Given the description of an element on the screen output the (x, y) to click on. 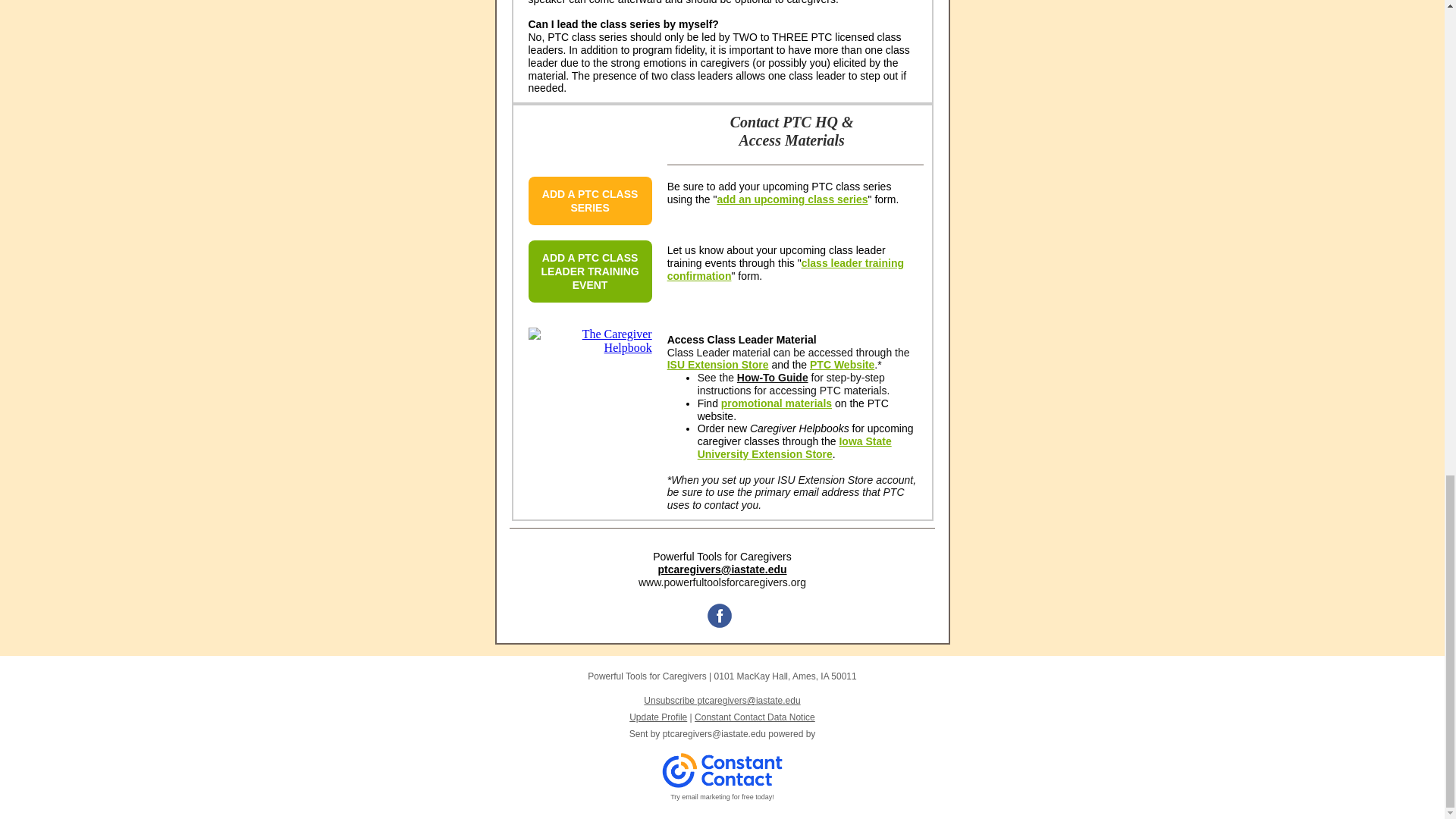
ADD A PTC CLASS LEADER TRAINING EVENT (590, 271)
class leader training confirmation (785, 269)
promotional materials (775, 403)
ADD A PTC CLASS SERIES (590, 200)
add an upcoming class series (791, 199)
Iowa State University Extension Store (794, 447)
Try email marketing for free today! (721, 796)
ISU Extension Store (717, 364)
How-To Guide (772, 377)
PTC Website (842, 364)
Update Profile (657, 716)
Constant Contact Data Notice (754, 716)
